Given the description of an element on the screen output the (x, y) to click on. 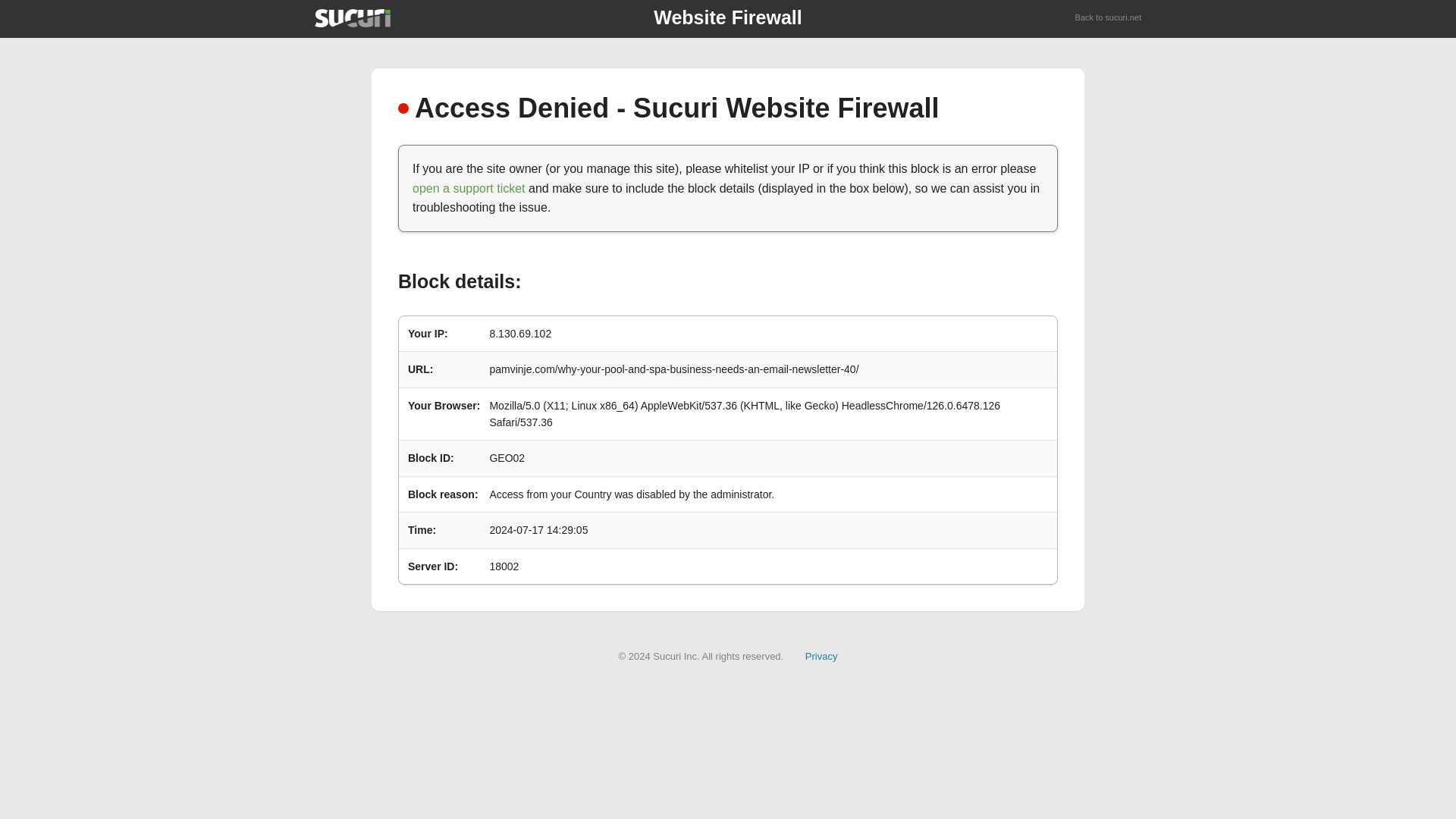
Back to sucuri.net (1108, 18)
Privacy (821, 655)
open a support ticket (468, 187)
